Given the description of an element on the screen output the (x, y) to click on. 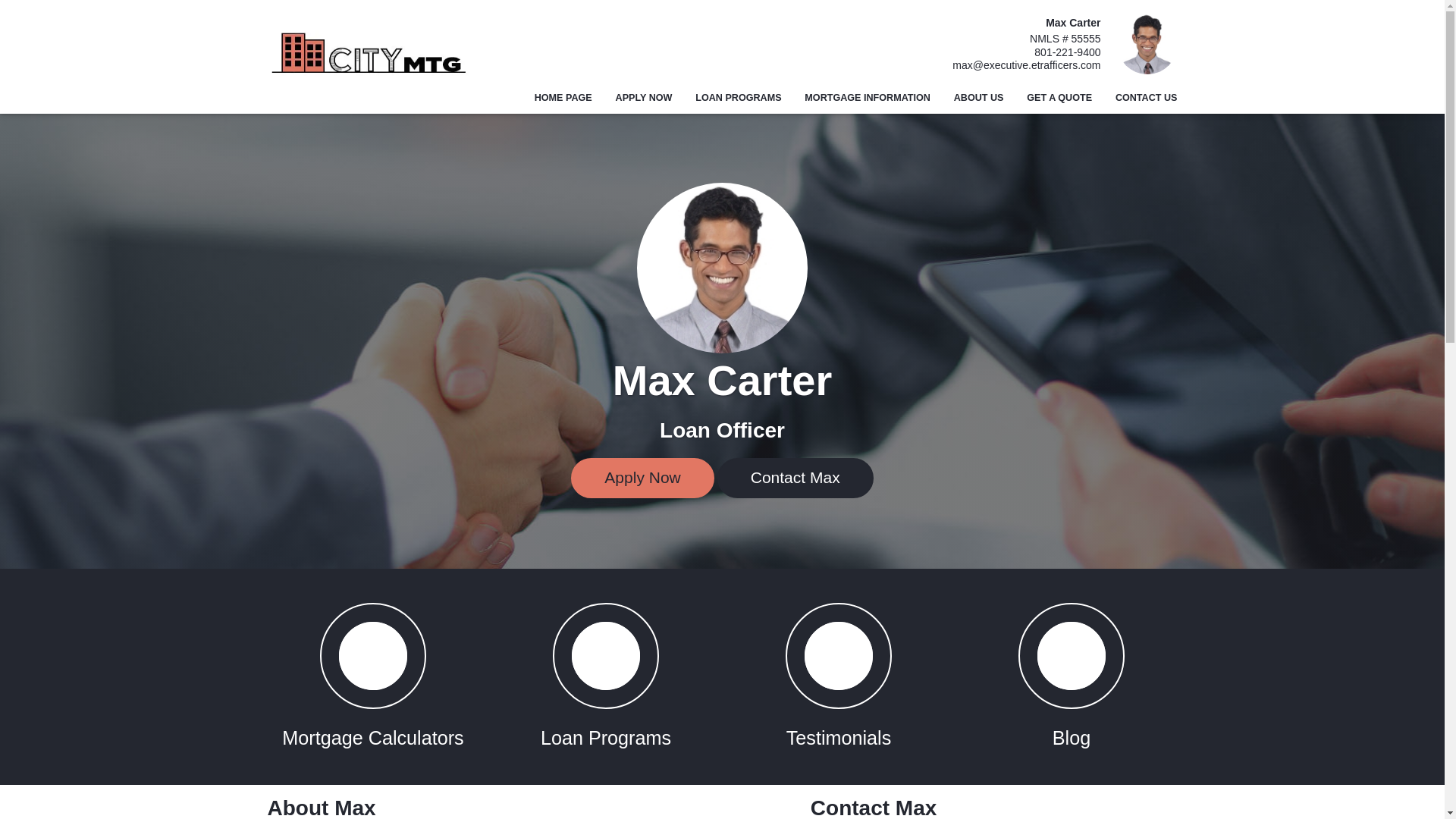
Mortgage Calculators (372, 676)
Loan Programs (605, 676)
Apply Now (641, 477)
801-221-9400 (1026, 51)
MORTGAGE INFORMATION (867, 97)
ABOUT US (978, 97)
Testimonials (837, 676)
APPLY NOW (644, 97)
Blog (1071, 676)
CONTACT US (1139, 97)
